Given the description of an element on the screen output the (x, y) to click on. 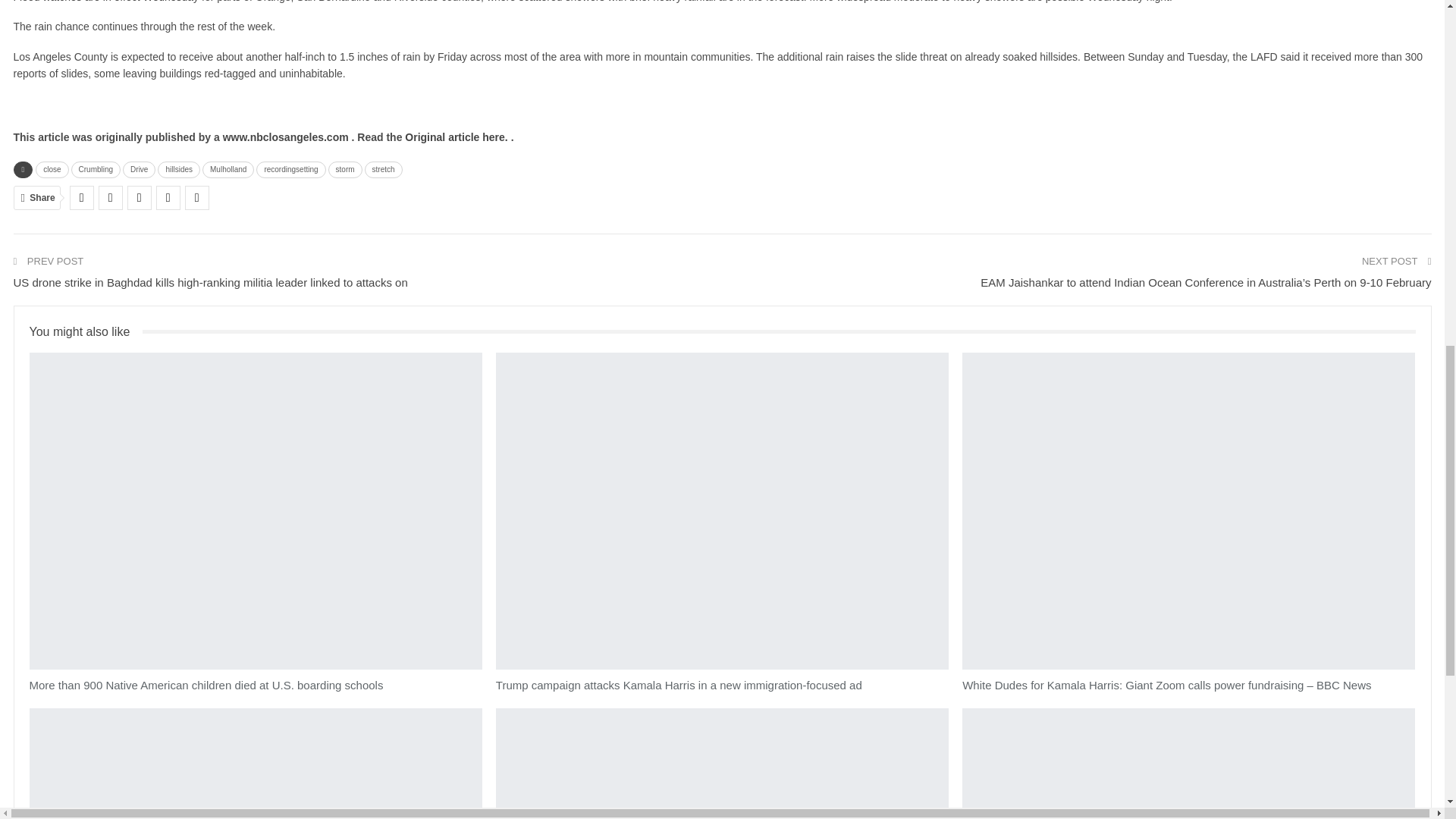
Drive (138, 169)
hillsides (178, 169)
close (51, 169)
You might also like (85, 331)
storm (345, 169)
www.nbclosangeles.com (287, 137)
recordingsetting (290, 169)
Original article here. (457, 137)
Flood watches are in effect Wednesday (106, 1)
Crumbling (95, 169)
Mulholland (227, 169)
